Given the description of an element on the screen output the (x, y) to click on. 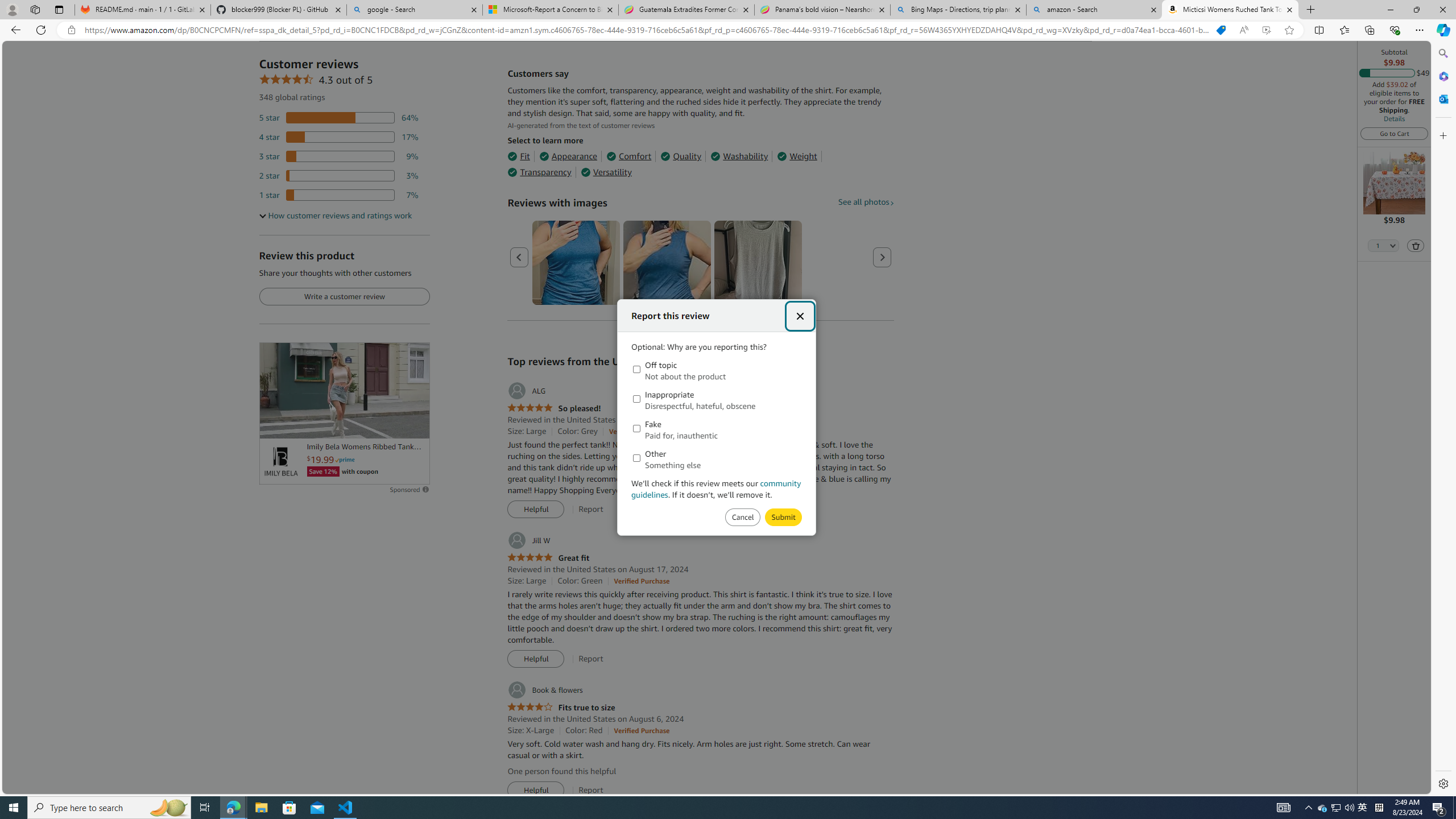
ALG (526, 390)
Fit (517, 156)
Helpful (536, 790)
Class: a-carousel-card (757, 262)
How customer reviews and ratings work (335, 215)
Verified Purchase (640, 730)
Jill W (528, 540)
Versatility (605, 172)
Enhance video (1266, 29)
4.0 out of 5 stars Fits true to size (560, 707)
